Given the description of an element on the screen output the (x, y) to click on. 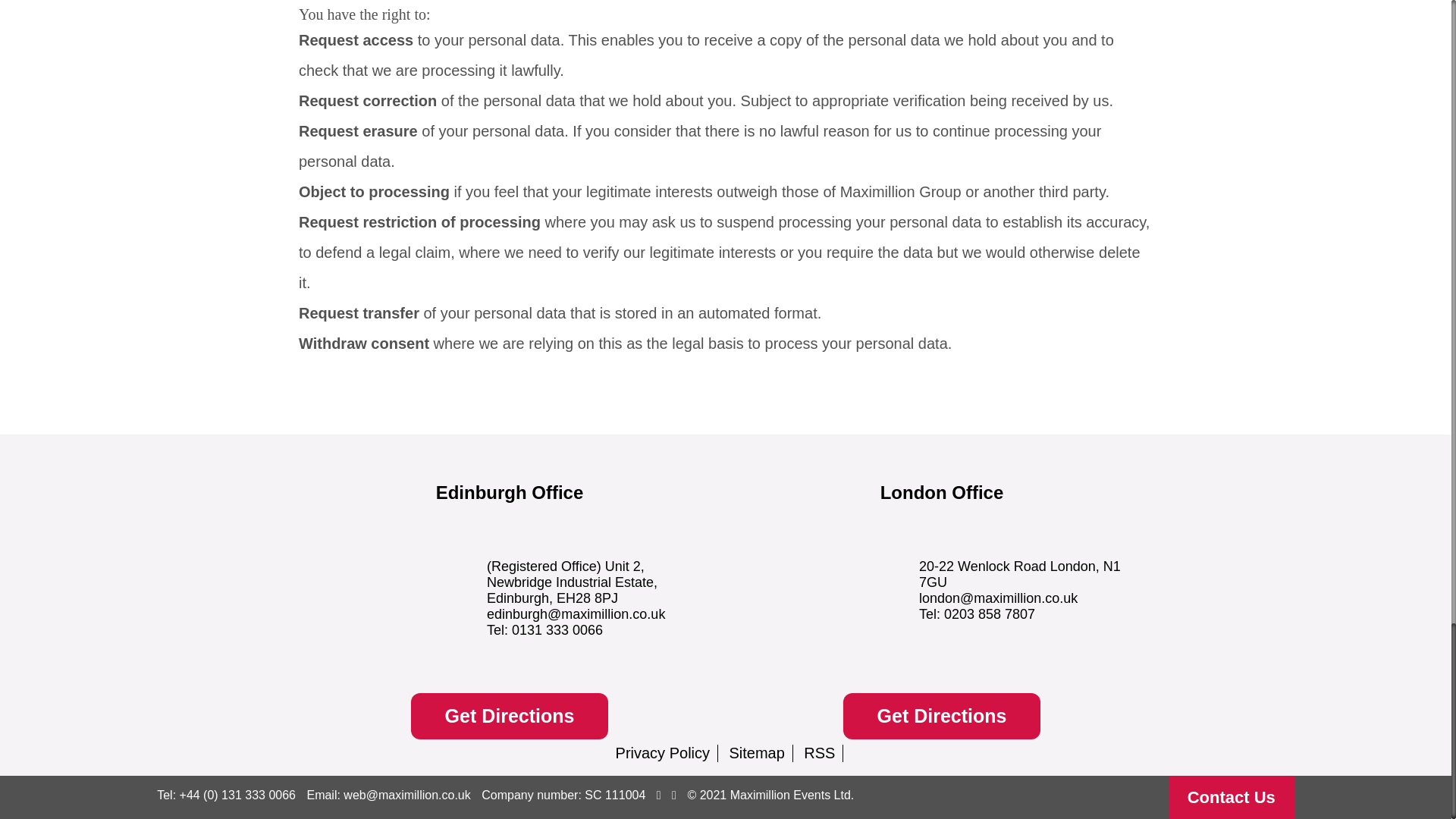
Privacy Policy (662, 752)
Get Directions (942, 716)
Tel: 0131 333 0066 (544, 630)
Get Directions (509, 716)
Tel: 0203 858 7807 (976, 613)
